Given the description of an element on the screen output the (x, y) to click on. 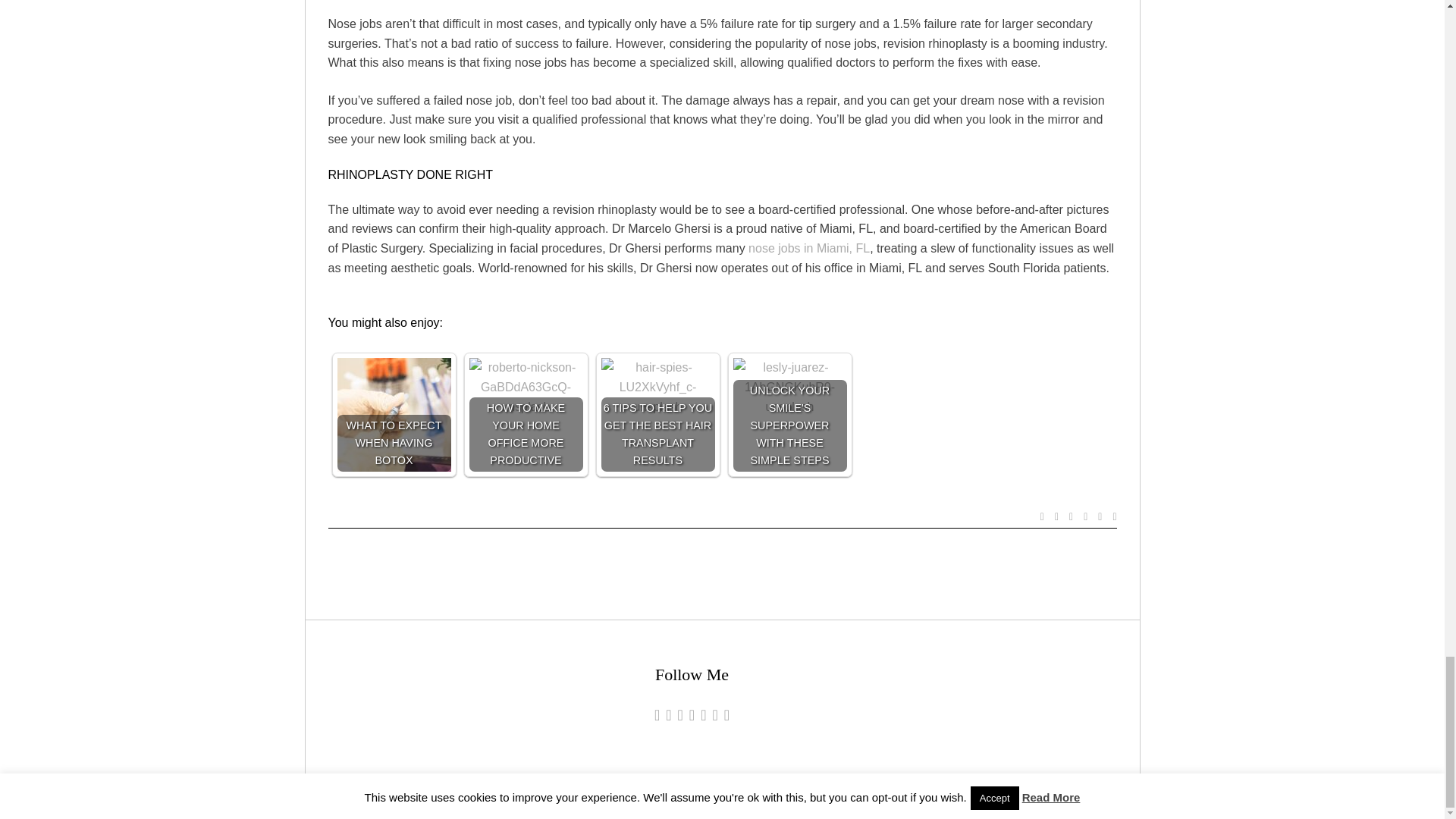
WHAT TO EXPECT WHEN HAVING BOTOX (392, 414)
WHAT TO EXPECT WHEN HAVING BOTOX (392, 414)
nose jobs in Miami, FL (808, 247)
UNLOCK YOUR SMILE'S SUPERPOWER WITH THESE SIMPLE STEPS (788, 386)
HOW TO MAKE YOUR HOME OFFICE MORE PRODUCTIVE (525, 414)
6 TIPS TO HELP YOU GET THE BEST HAIR TRANSPLANT RESULTS (656, 414)
UNLOCK YOUR SMILE'S SUPERPOWER WITH THESE SIMPLE STEPS (788, 414)
HOW TO MAKE YOUR HOME OFFICE MORE PRODUCTIVE (525, 386)
6 TIPS TO HELP YOU GET THE BEST HAIR TRANSPLANT RESULTS (656, 386)
